Given the description of an element on the screen output the (x, y) to click on. 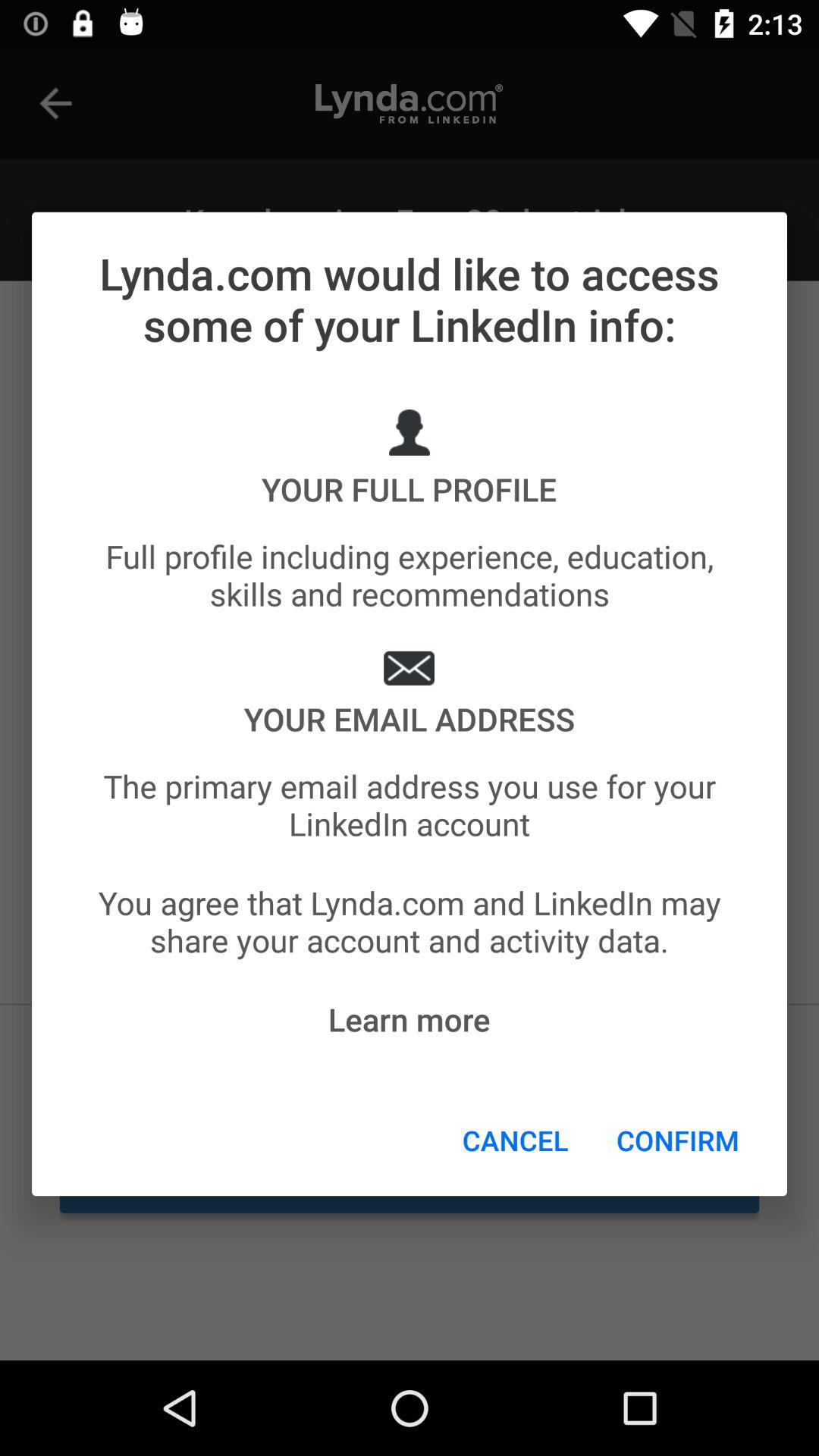
turn off learn more (409, 1018)
